Given the description of an element on the screen output the (x, y) to click on. 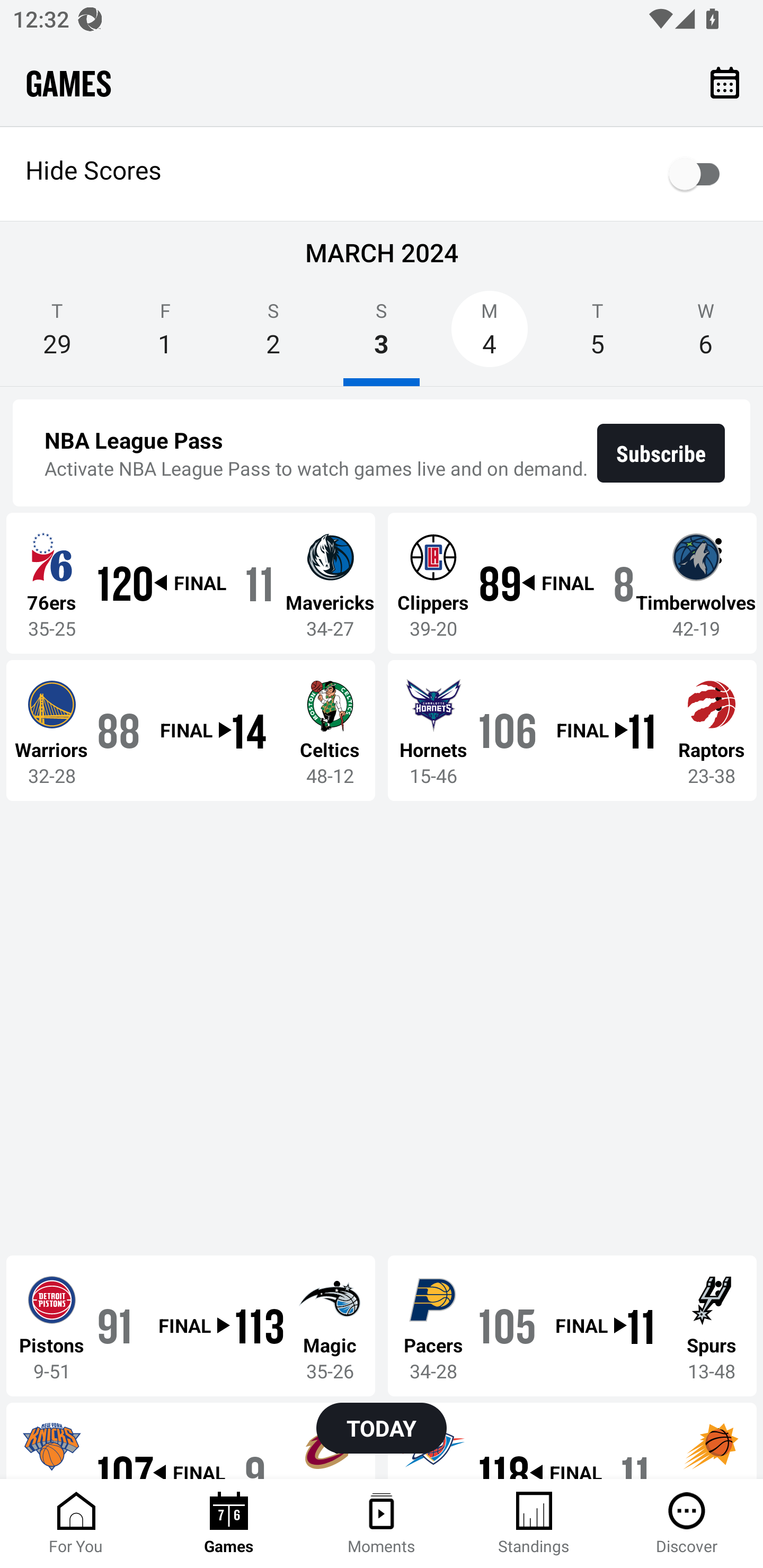
Calendar (724, 81)
Hide Scores (381, 174)
T 29 (57, 334)
F 1 (165, 334)
S 2 (273, 334)
S 3 (381, 334)
M 4 (489, 334)
T 5 (597, 334)
W 6 (705, 334)
Subscribe (660, 452)
TODAY (381, 1428)
For You (76, 1523)
Moments (381, 1523)
Standings (533, 1523)
Discover (686, 1523)
